Given the description of an element on the screen output the (x, y) to click on. 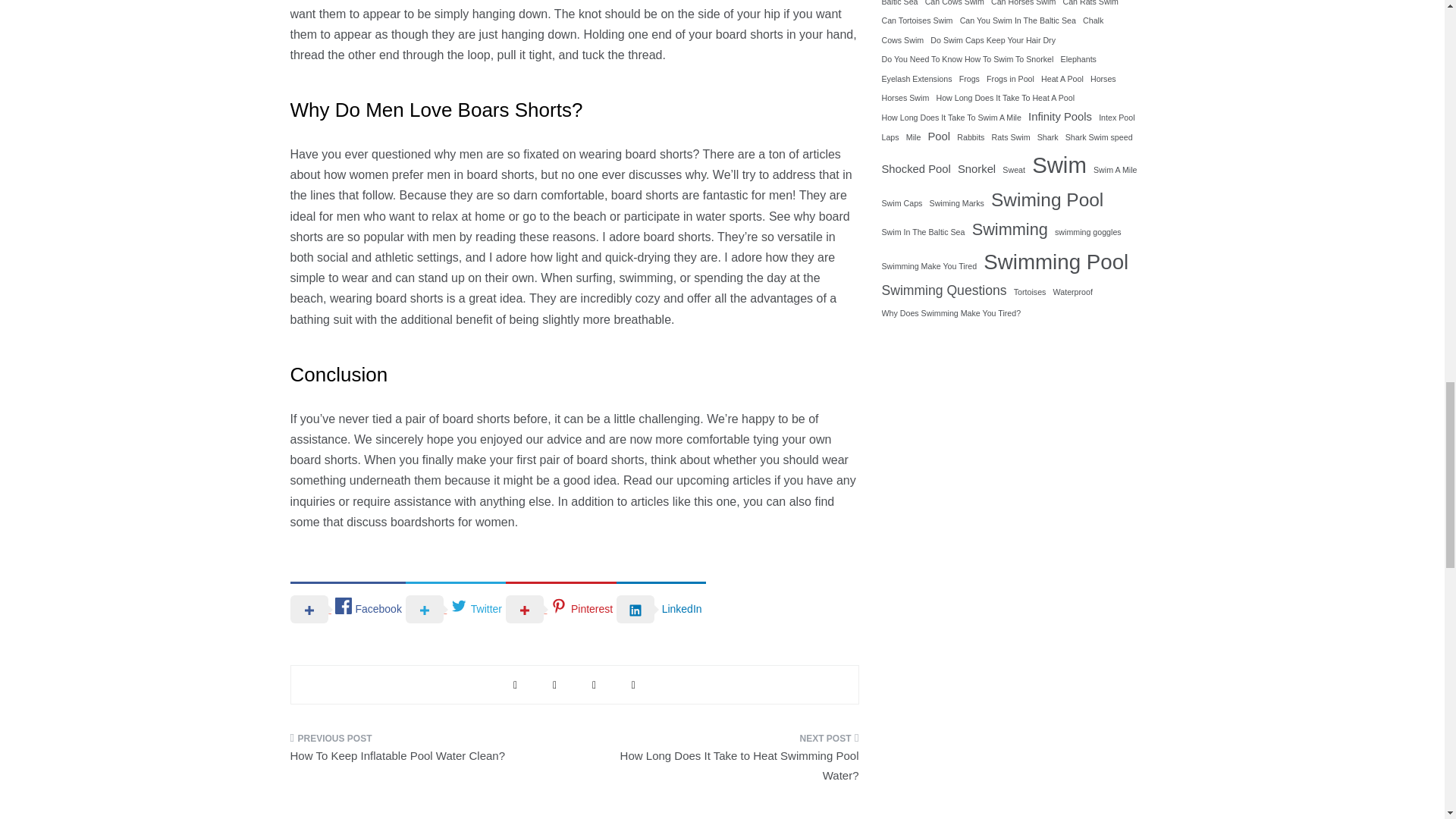
LinkedIn (659, 607)
How To Keep Inflatable Pool Water Clean? (425, 752)
Facebook (346, 607)
Twitter (455, 607)
How Long Does It Take to Heat Swimming Pool Water? (722, 761)
Pinterest (560, 607)
